Given the description of an element on the screen output the (x, y) to click on. 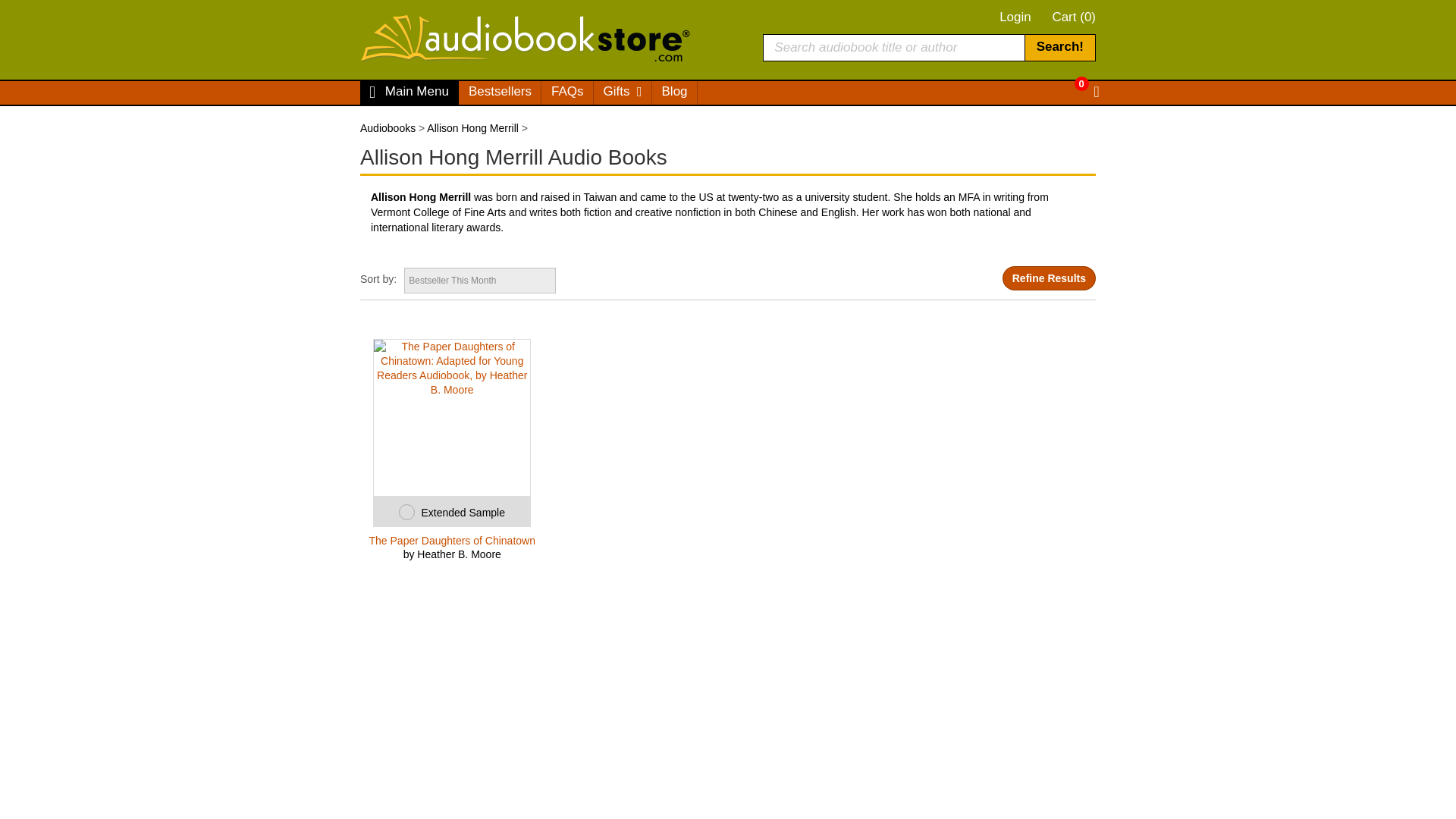
The Paper Daughters of Chinatown (452, 540)
Shopping cart (1086, 92)
Search! (1059, 47)
Shopping cart (1073, 16)
Shopping cart (1072, 83)
